Given the description of an element on the screen output the (x, y) to click on. 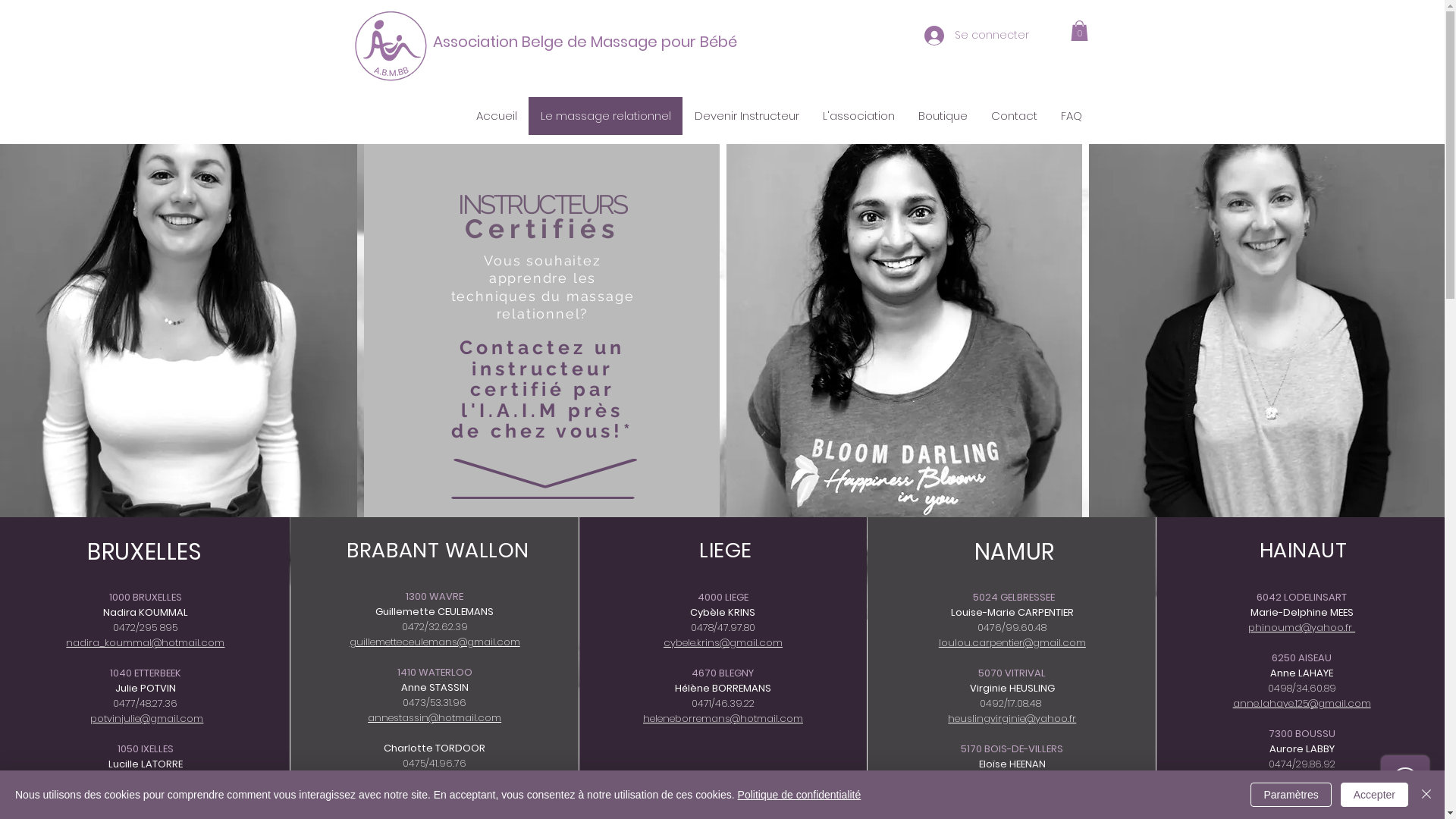
guillemetteceulemans@gmail.com Element type: text (434, 641)
potvinjulie@gmail.com Element type: text (146, 718)
Accueil Element type: text (496, 115)
eloise.heenan@gmail.com Element type: text (1011, 794)
aurore.labby@hotmail.com Element type: text (1301, 778)
Se connecter Element type: text (957, 35)
annestassin@hotmail.com Element type: text (434, 717)
anne.lahaye.125@gmail.com Element type: text (1302, 703)
Contact Element type: text (1013, 115)
lucillelatorre@gmail.com Element type: text (145, 794)
Devenir Instructeur Element type: text (746, 115)
heleneborremans@hotmail.com Element type: text (723, 718)
www.glen-bien-naitre.be Element type: text (434, 793)
Boutique Element type: text (941, 115)
charlottetordoor@gmail.com Element type: text (434, 778)
FAQ Element type: text (1070, 115)
loulou.carpentier@gmail.com Element type: text (1011, 642)
TWIPLA (Visitor Analytics) Element type: hover (1442, 4)
phinoumd@yahoo.fr  Element type: text (1301, 627)
0 Element type: text (1079, 30)
Accepter Element type: text (1374, 794)
L'association Element type: text (857, 115)
  Element type: text (88, 718)
cybele.krins@gmail.com Element type: text (722, 642)
Le massage relationnel Element type: text (604, 115)
nadira_koummal@hotmail.com Element type: text (144, 642)
heuslingvirginie@yahoo.fr Element type: text (1011, 718)
